Given the description of an element on the screen output the (x, y) to click on. 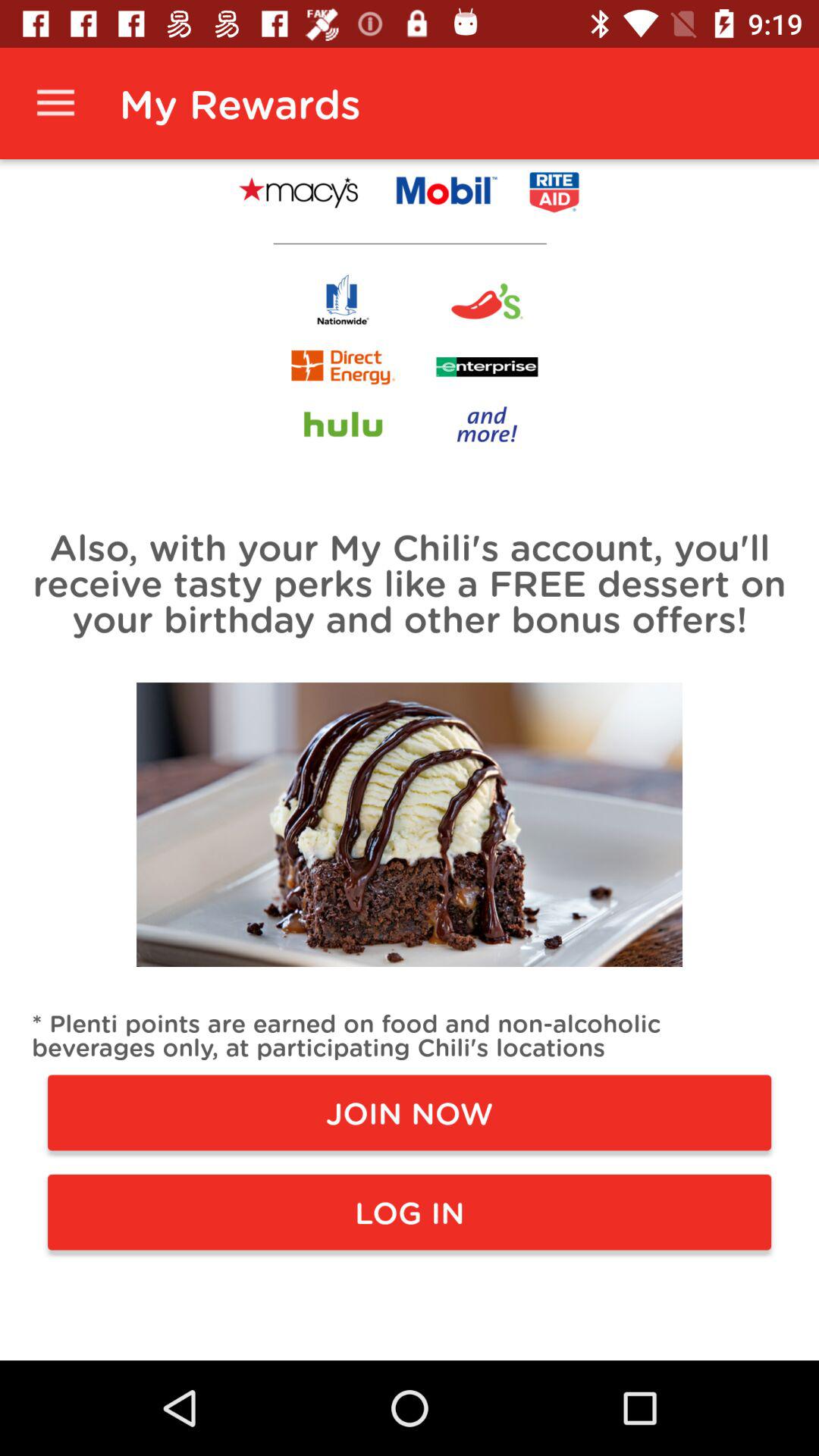
scroll to the join now item (409, 1112)
